Given the description of an element on the screen output the (x, y) to click on. 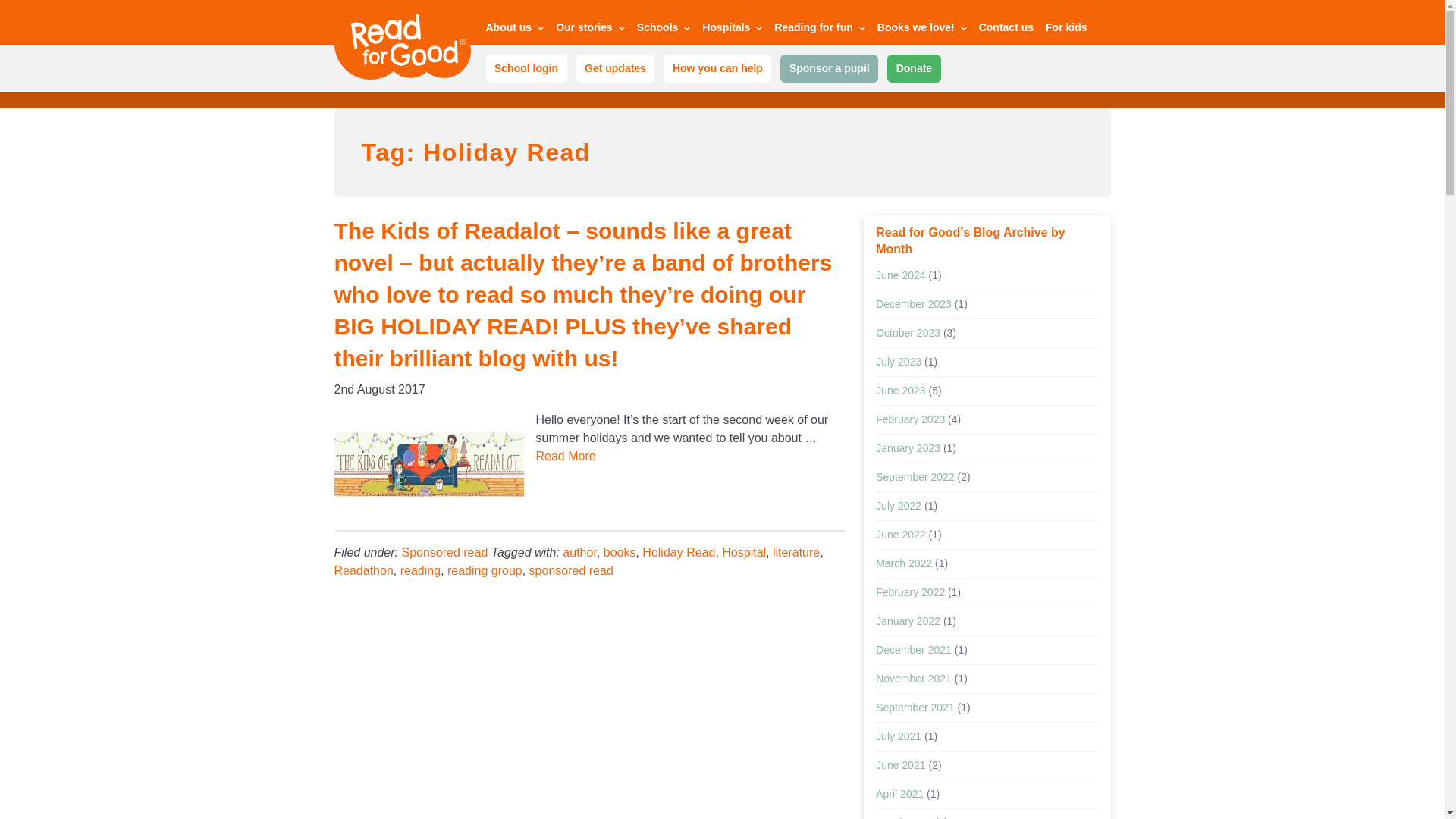
Reading for fun (819, 29)
Hospitals (731, 29)
Schools (663, 29)
About us (513, 29)
Our stories (590, 29)
Books we love! (921, 29)
